Given the description of an element on the screen output the (x, y) to click on. 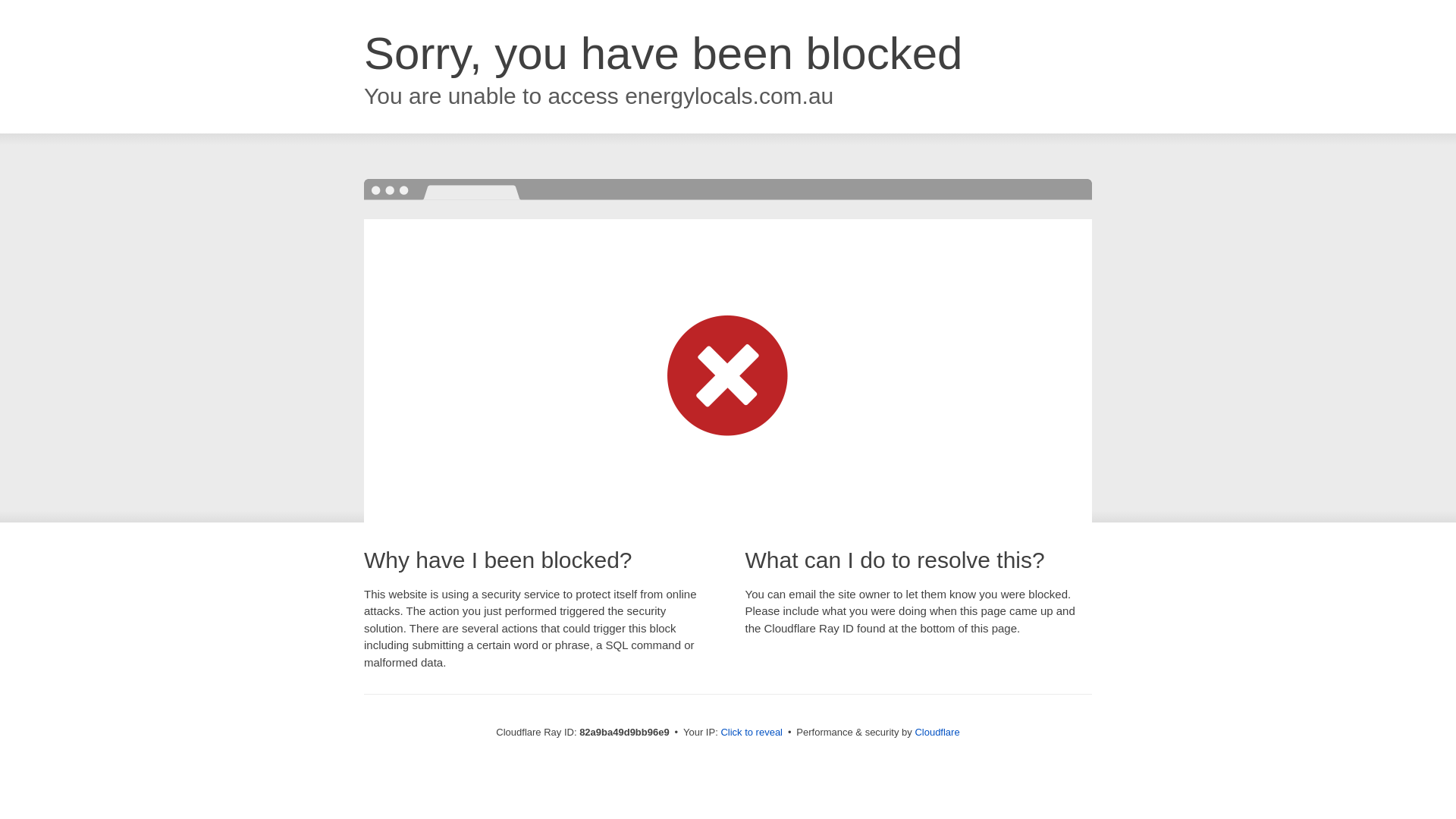
Click to reveal Element type: text (751, 732)
Cloudflare Element type: text (936, 731)
